Given the description of an element on the screen output the (x, y) to click on. 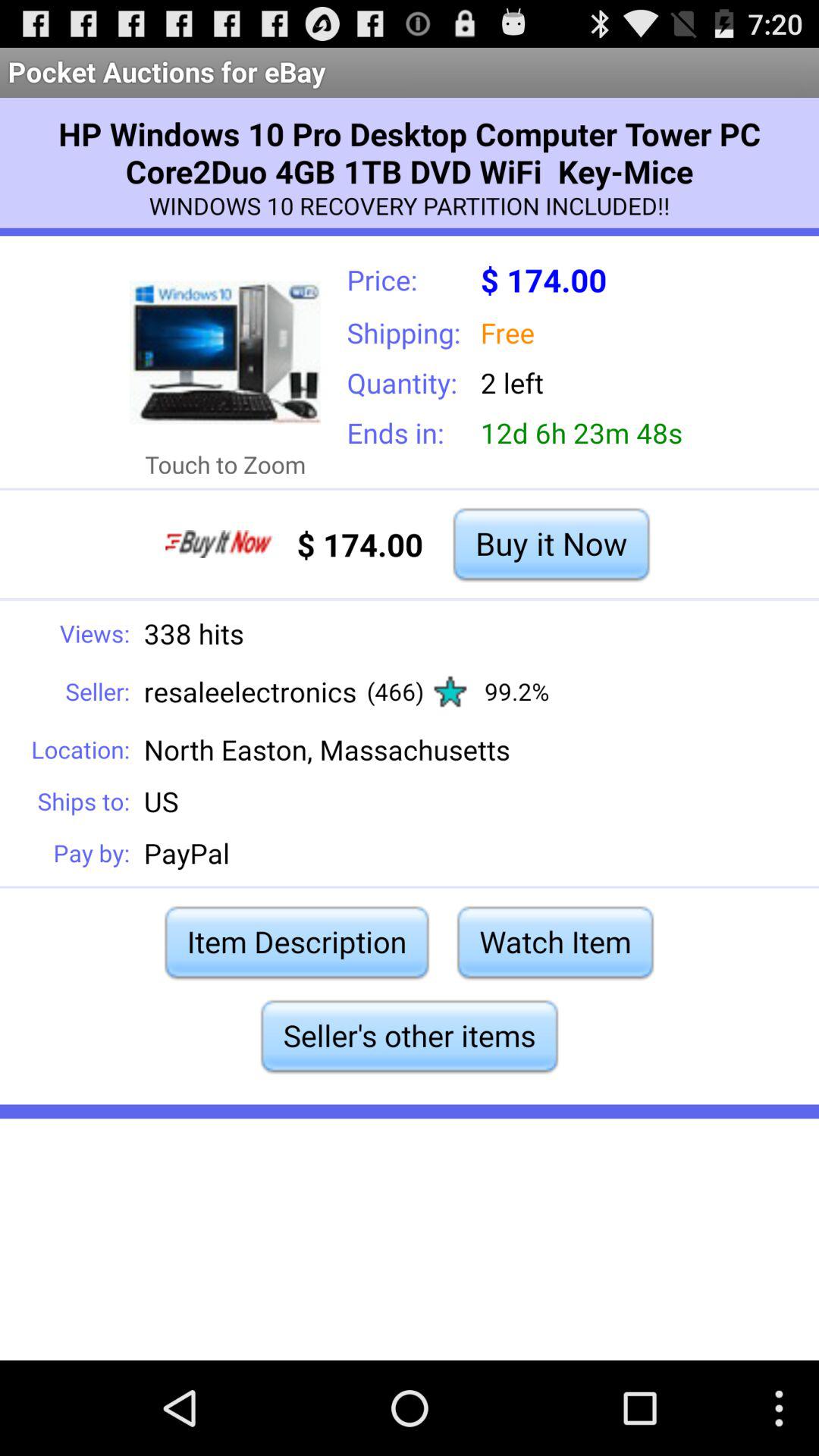
choose item next to the watch item (296, 942)
